Given the description of an element on the screen output the (x, y) to click on. 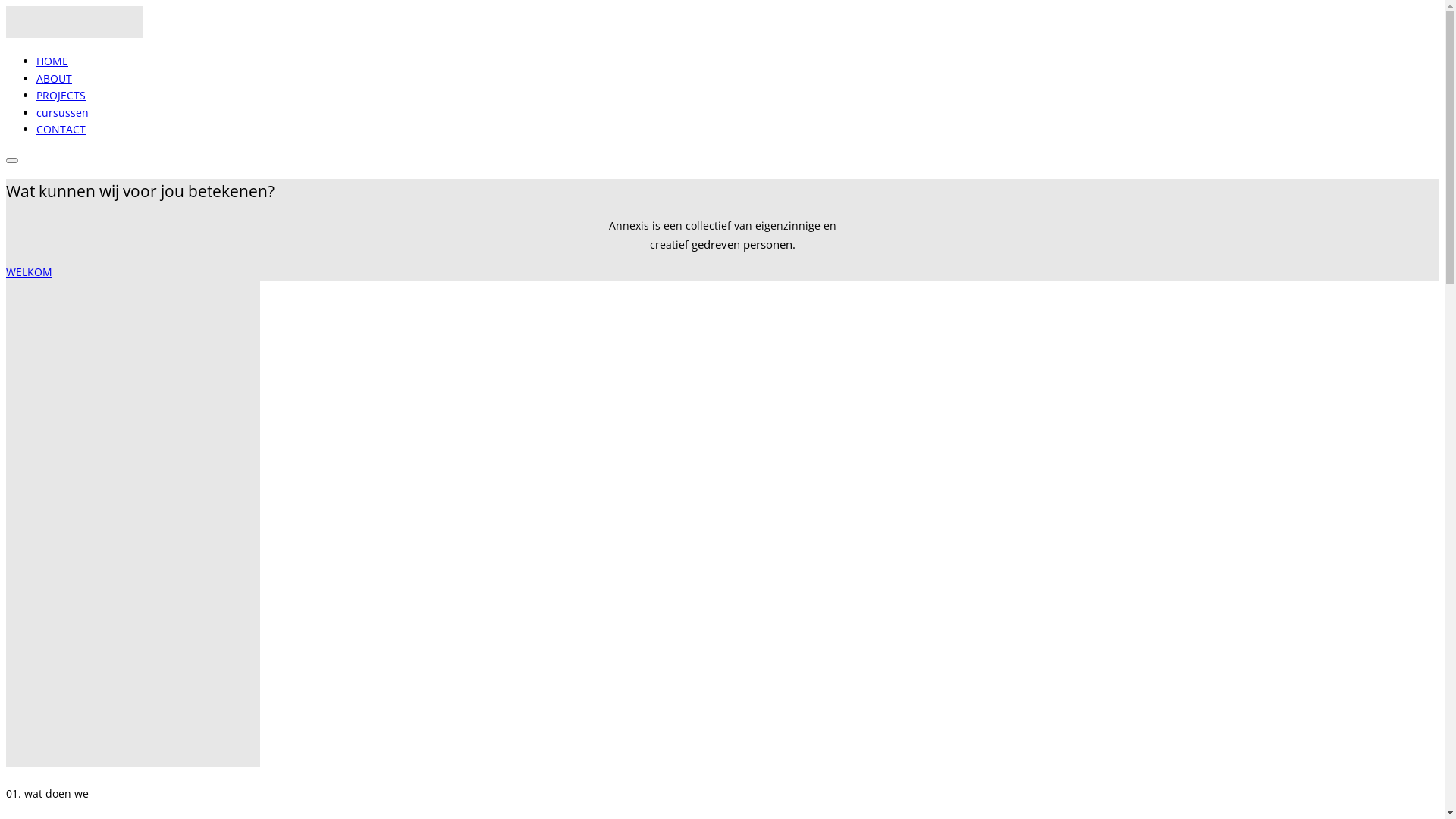
HOME Element type: text (52, 60)
cursussen Element type: text (62, 112)
PROJECTS Element type: text (60, 94)
CONTACT Element type: text (60, 129)
WELKOM Element type: text (29, 271)
ABOUT Element type: text (54, 78)
